Given the description of an element on the screen output the (x, y) to click on. 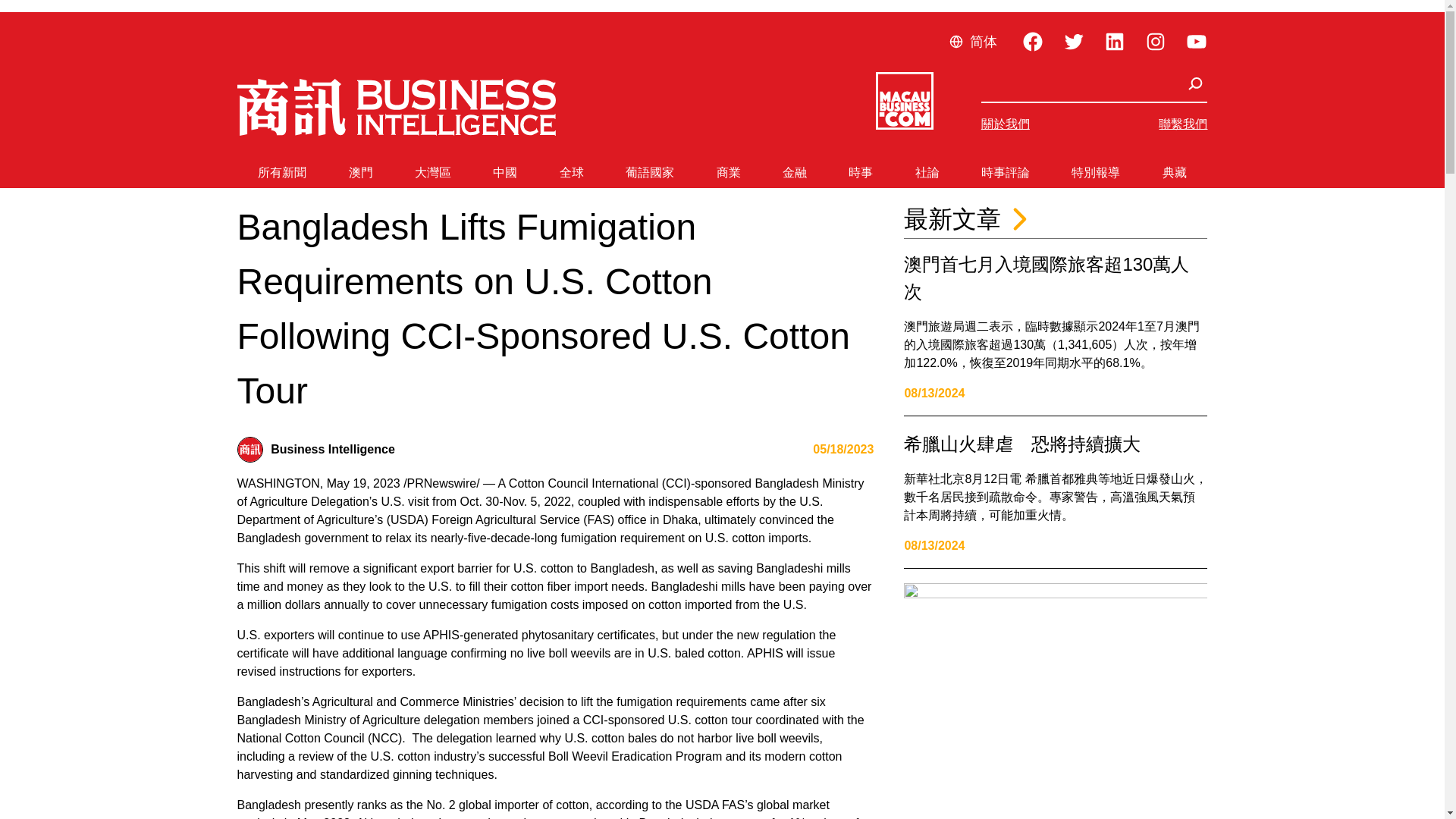
Facebook (1031, 41)
Instagram (1154, 41)
LinkedIn (1113, 41)
YouTube (1196, 41)
Twitter (1072, 41)
